Given the description of an element on the screen output the (x, y) to click on. 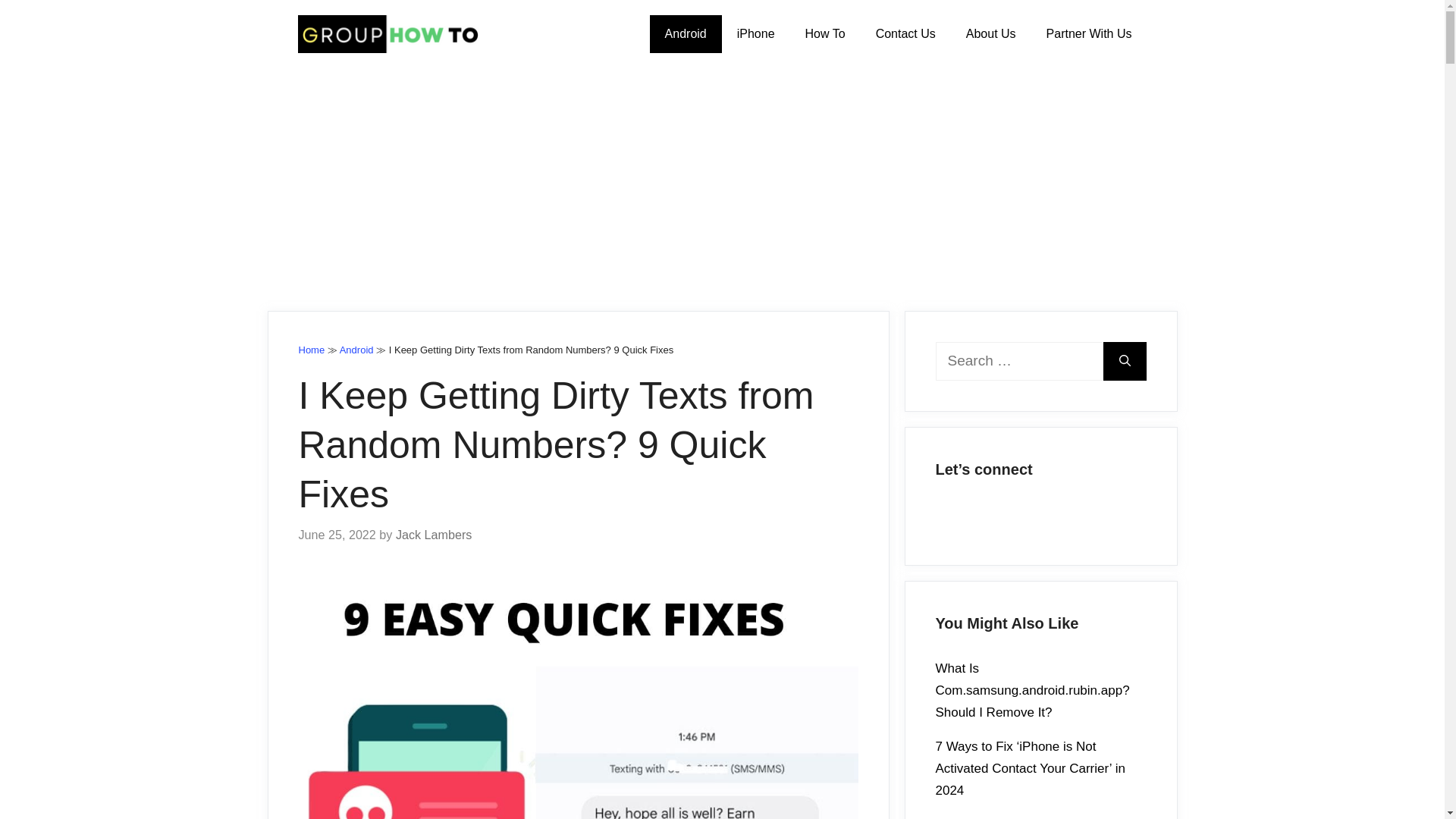
iPhone (756, 34)
Partner With Us (1088, 34)
How To (825, 34)
Android (356, 349)
Jack Lambers (433, 534)
Home (311, 349)
View all posts by Jack Lambers (433, 534)
About Us (990, 34)
Contact Us (905, 34)
Android (685, 34)
